Given the description of an element on the screen output the (x, y) to click on. 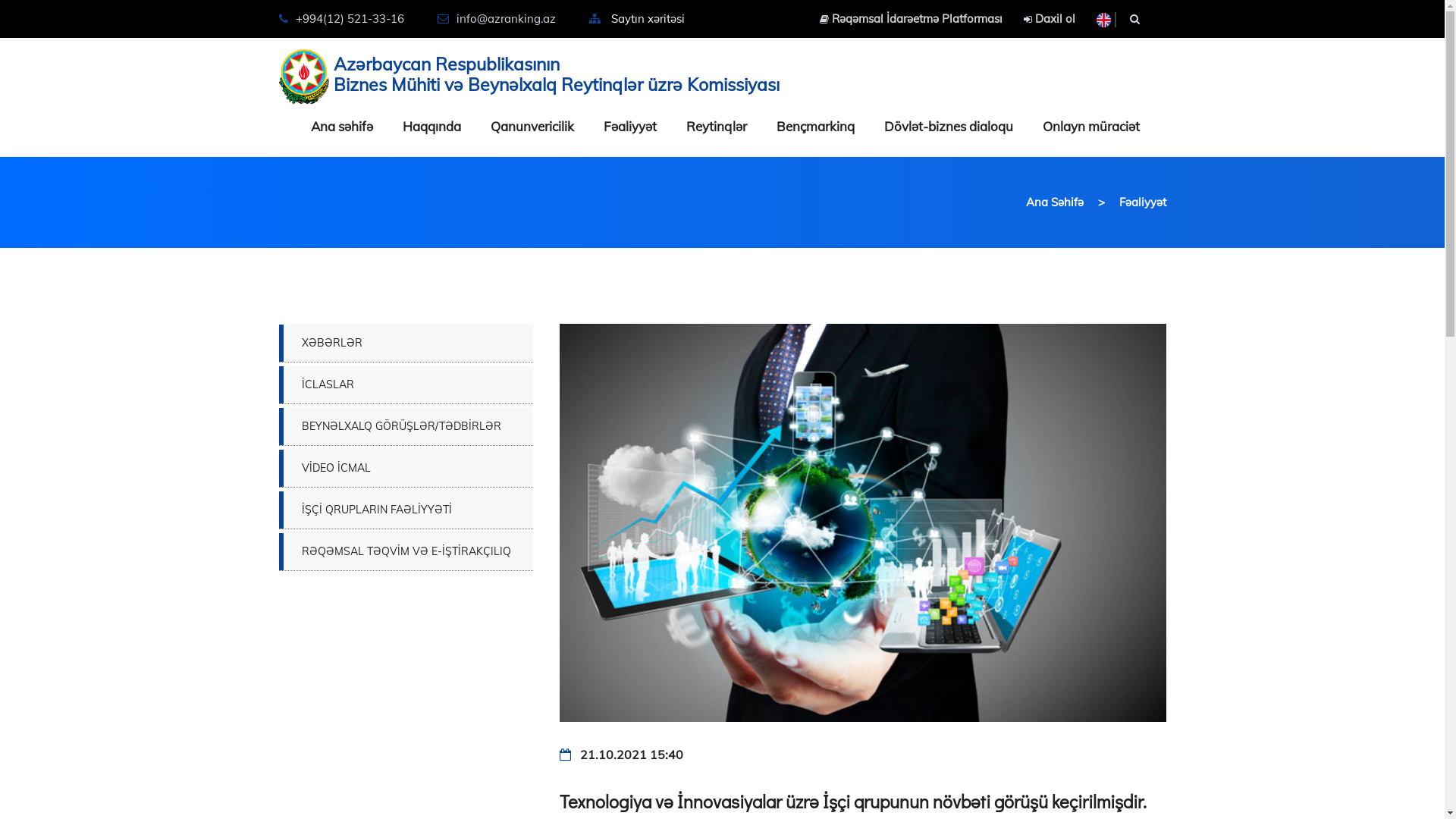
Daxil ol Element type: text (1049, 18)
Qanunvericilik Element type: text (531, 126)
VIDEO ICMAL Element type: text (406, 467)
21.10.2021 15:40 Element type: text (621, 754)
